Given the description of an element on the screen output the (x, y) to click on. 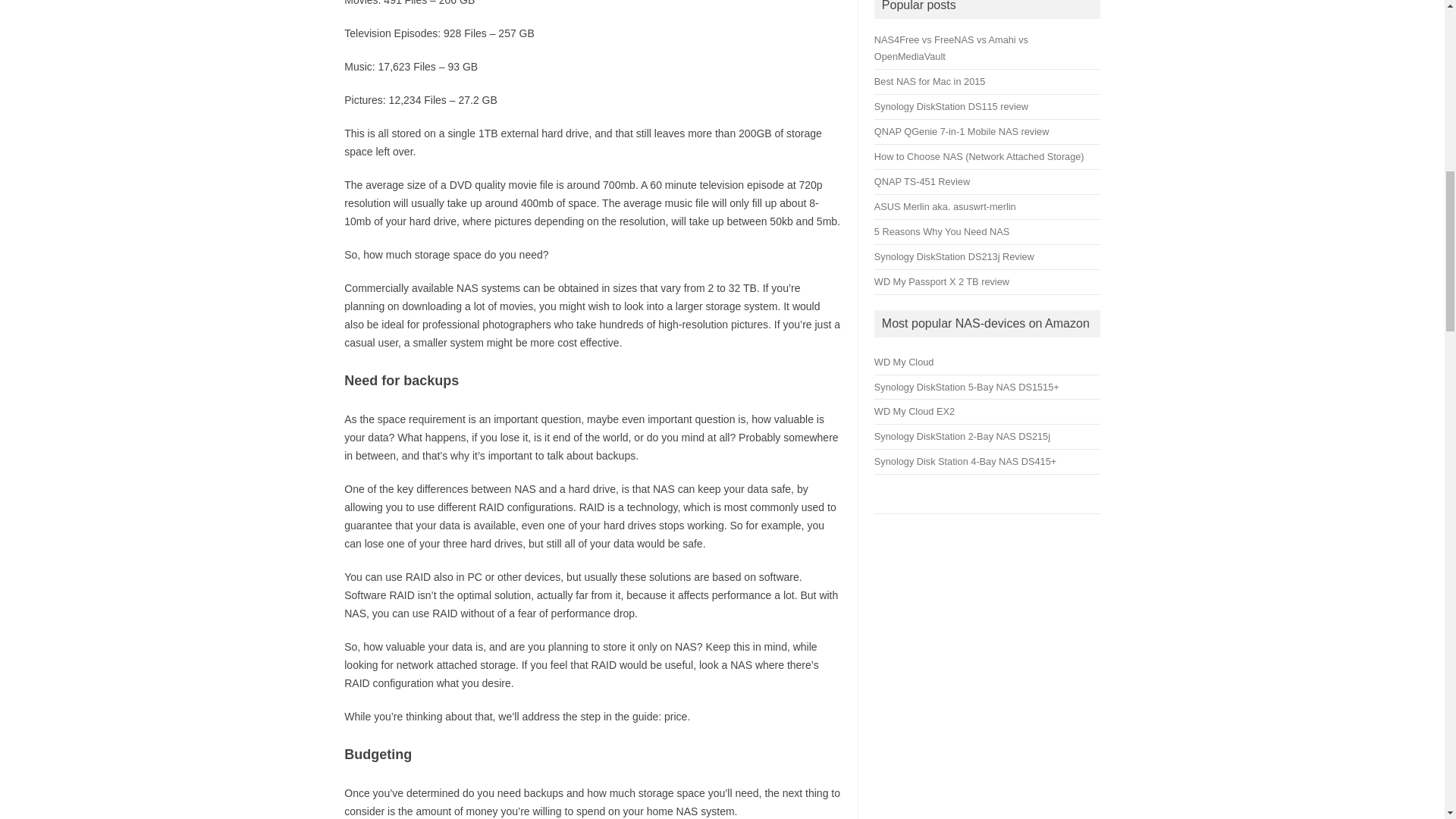
ASUS Merlin aka. asuswrt-merlin (945, 206)
QNAP TS-451 Review (922, 181)
Synology DiskStation 2-Bay NAS DS215j (962, 436)
Synology DiskStation DS115 review (951, 106)
WD My Cloud EX2 (915, 410)
QNAP QGenie 7-in-1 Mobile NAS review (962, 131)
WD My Cloud (904, 361)
WD My Passport X 2 TB review (942, 281)
NAS4Free vs FreeNAS vs Amahi vs OpenMediaVault (951, 48)
5 Reasons Why You Need NAS (942, 231)
